Given the description of an element on the screen output the (x, y) to click on. 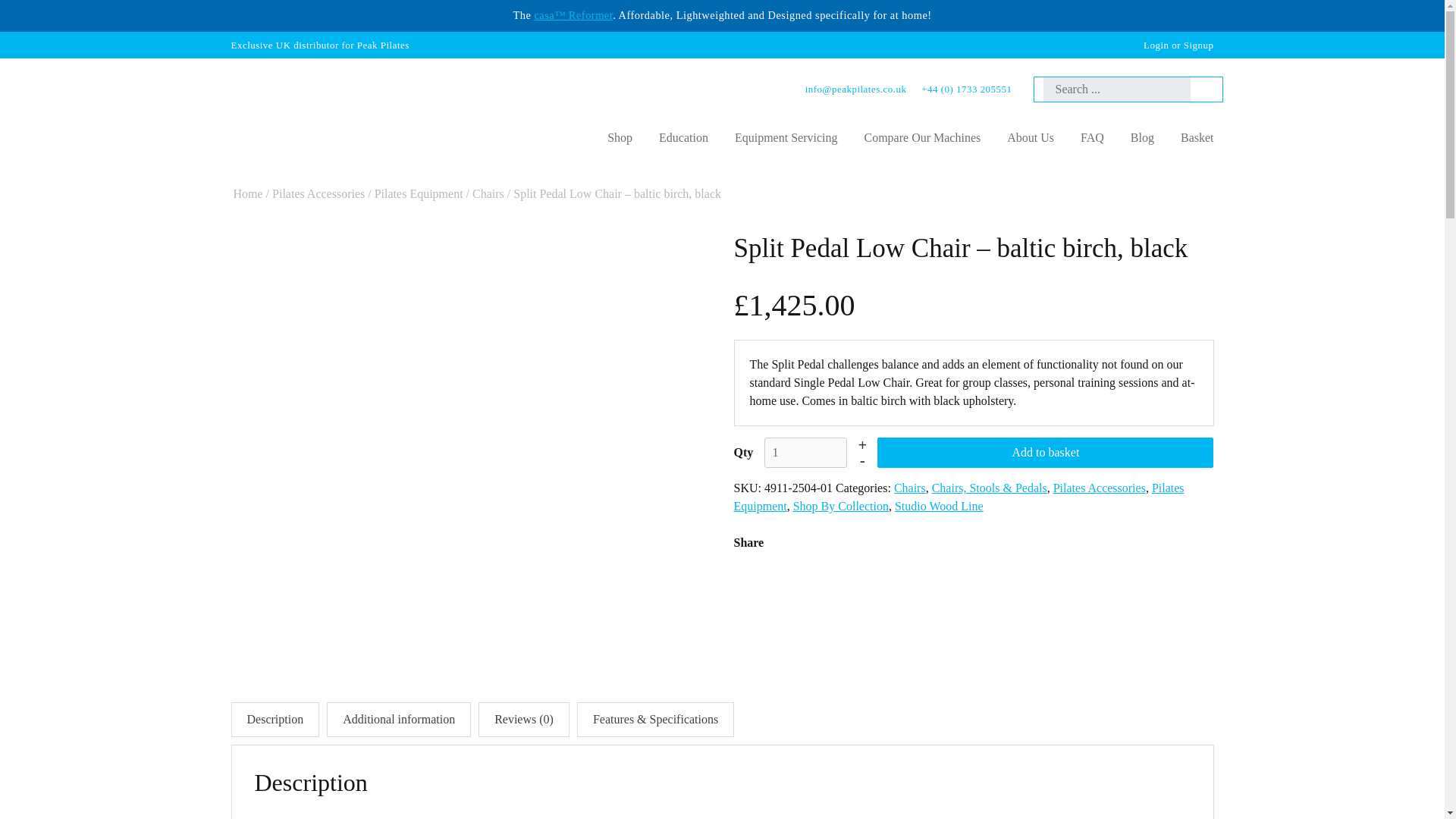
Education (683, 137)
Search (1201, 88)
Shop (619, 137)
FAQ (1091, 137)
1 (805, 452)
Compare Our Machines (921, 137)
Equipment Servicing (786, 137)
About Us (1030, 137)
Basket (1197, 137)
Blog (1142, 137)
Login or Signup (1177, 44)
